Given the description of an element on the screen output the (x, y) to click on. 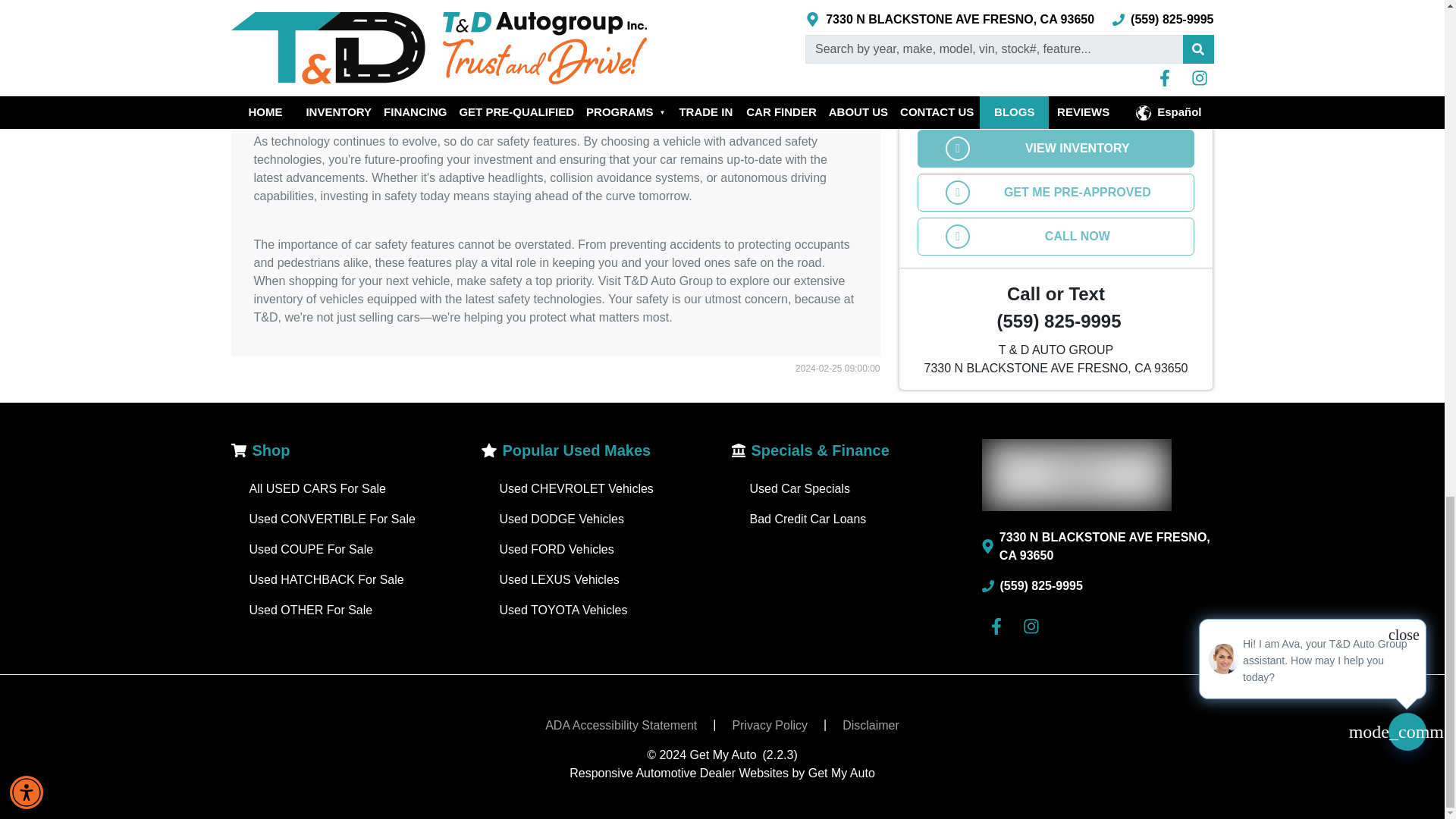
Used OTHER For Sale (310, 609)
7330 N BLACKSTONE AVE FRESNO, CA 93650 (1096, 546)
Used COUPE For Sale (310, 549)
Used CHEVROLET Vehicles (575, 488)
Used TOYOTA Vehicles (563, 609)
ADA Accessibility Statement (620, 725)
All USED CARS For Sale (316, 488)
Used DODGE Vehicles (561, 518)
Used Car Specials (799, 488)
Used LEXUS Vehicles (558, 579)
Used CONVERTIBLE For Sale (331, 518)
Privacy Policy (769, 725)
Bad Credit Car Loans (807, 518)
Used FORD Vehicles (555, 549)
Used HATCHBACK For Sale (325, 579)
